Given the description of an element on the screen output the (x, y) to click on. 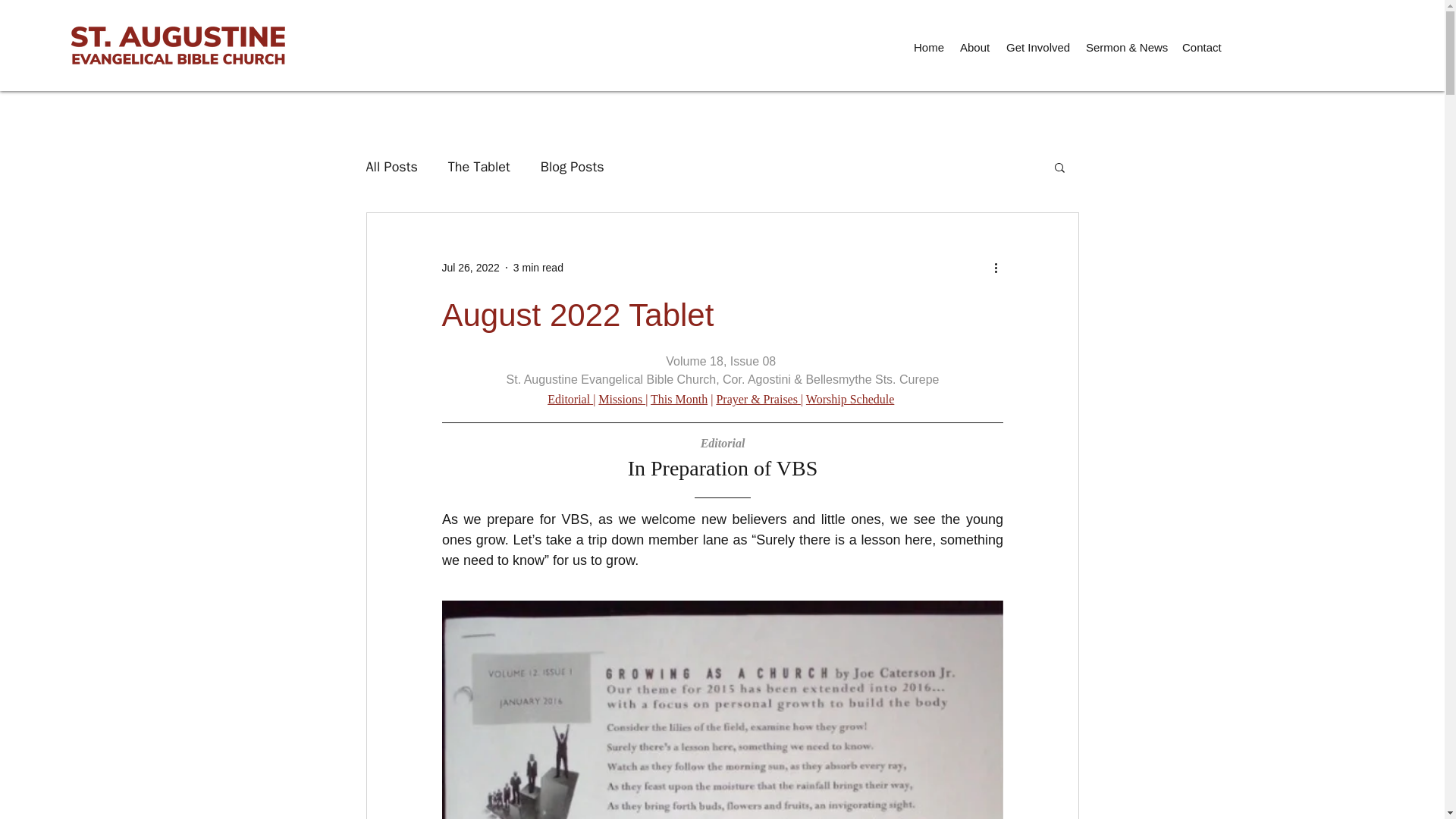
Worship Schedule (849, 398)
The Tablet (479, 167)
Blog Posts (572, 167)
Contact (1202, 47)
3 min read (538, 266)
Home (928, 47)
Missions  (621, 398)
Jul 26, 2022 (470, 266)
Editorial  (569, 398)
All Posts (390, 167)
This Month (678, 398)
